Given the description of an element on the screen output the (x, y) to click on. 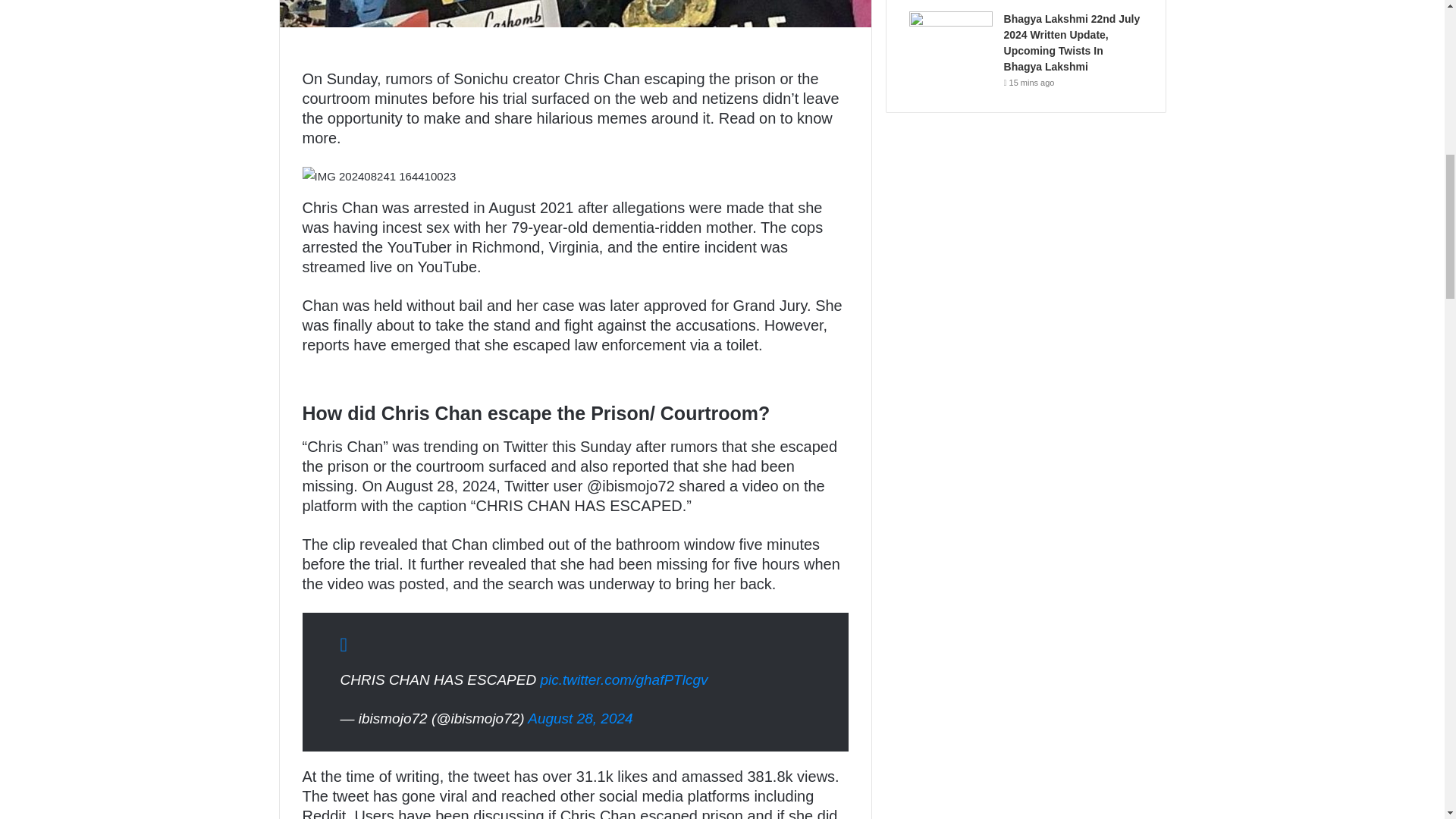
August 28, 2024 (579, 718)
